Given the description of an element on the screen output the (x, y) to click on. 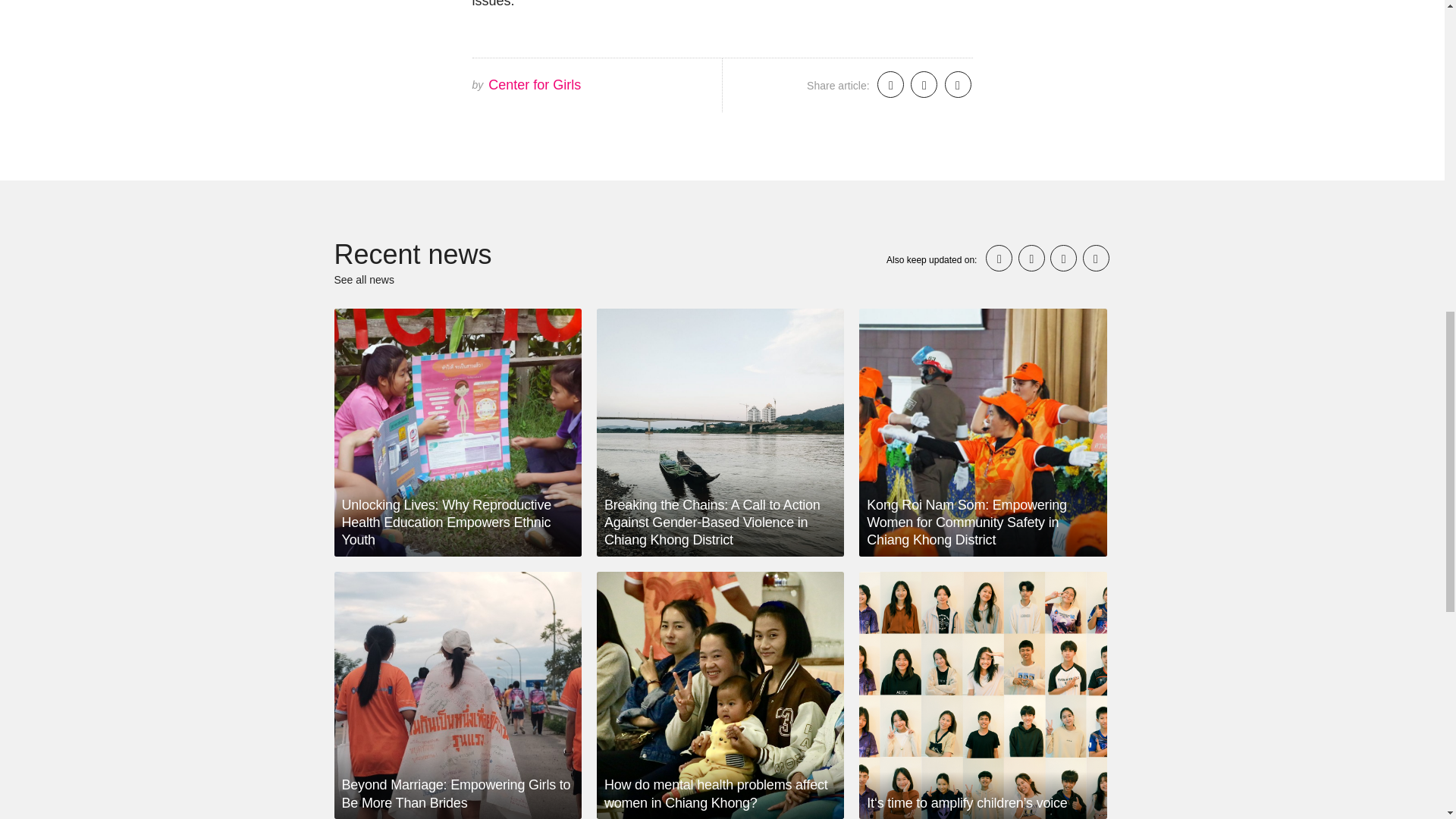
See all news (363, 279)
Recent news (412, 254)
Posts by Center for Girls (533, 84)
Center for Girls (533, 84)
